Given the description of an element on the screen output the (x, y) to click on. 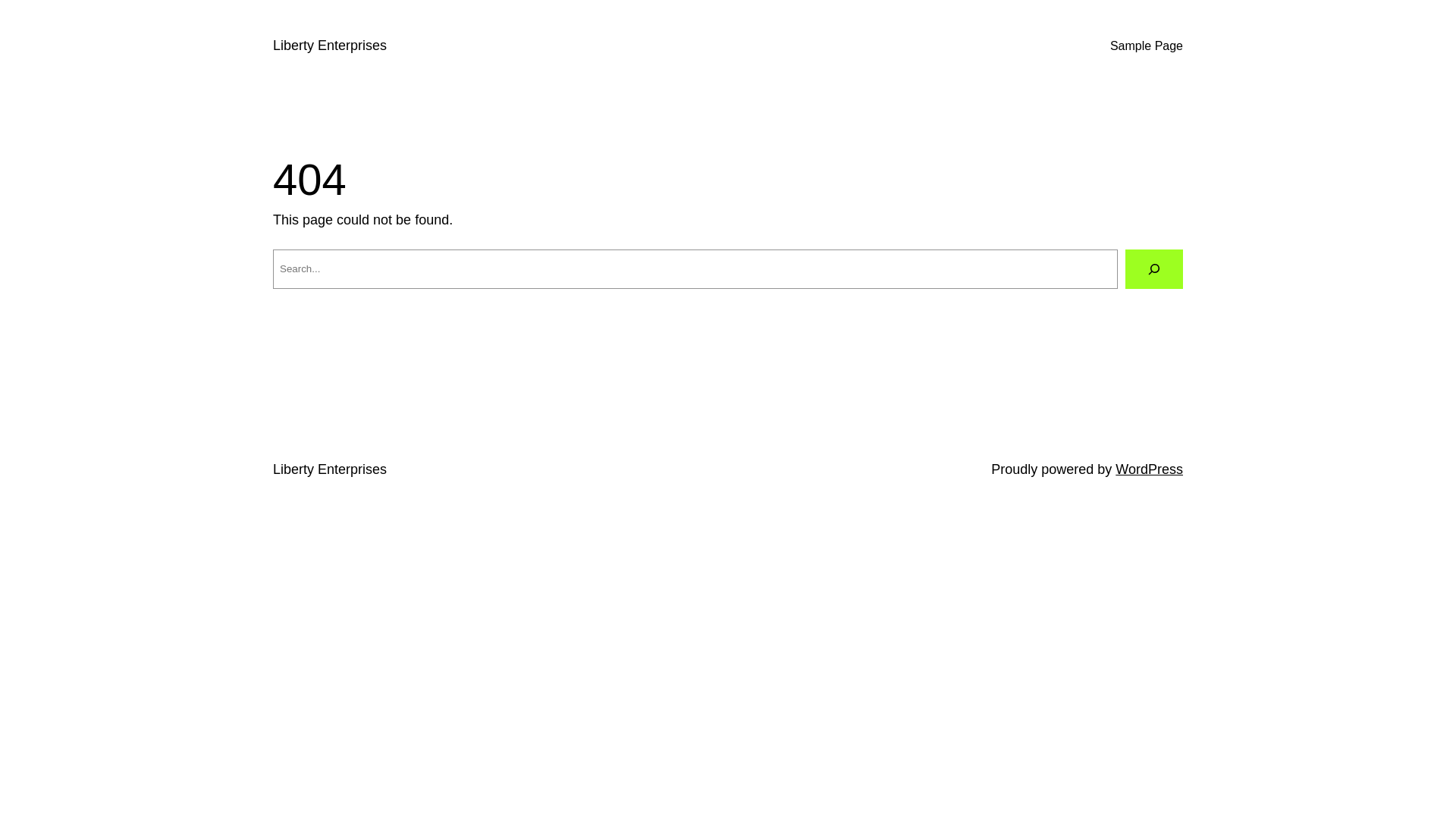
Liberty Enterprises Element type: text (329, 45)
Liberty Enterprises Element type: text (329, 468)
Sample Page Element type: text (1146, 46)
WordPress Element type: text (1149, 468)
